Given the description of an element on the screen output the (x, y) to click on. 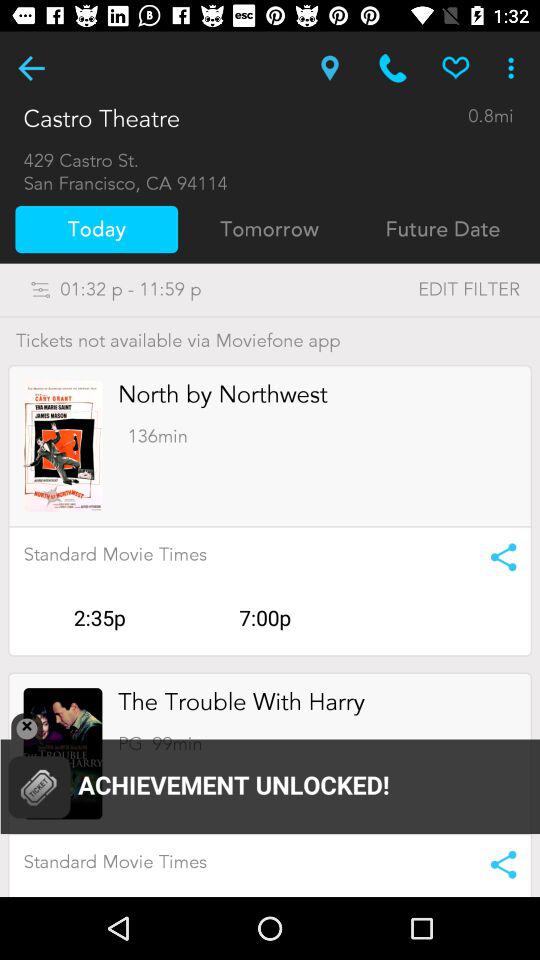
share button (496, 864)
